Given the description of an element on the screen output the (x, y) to click on. 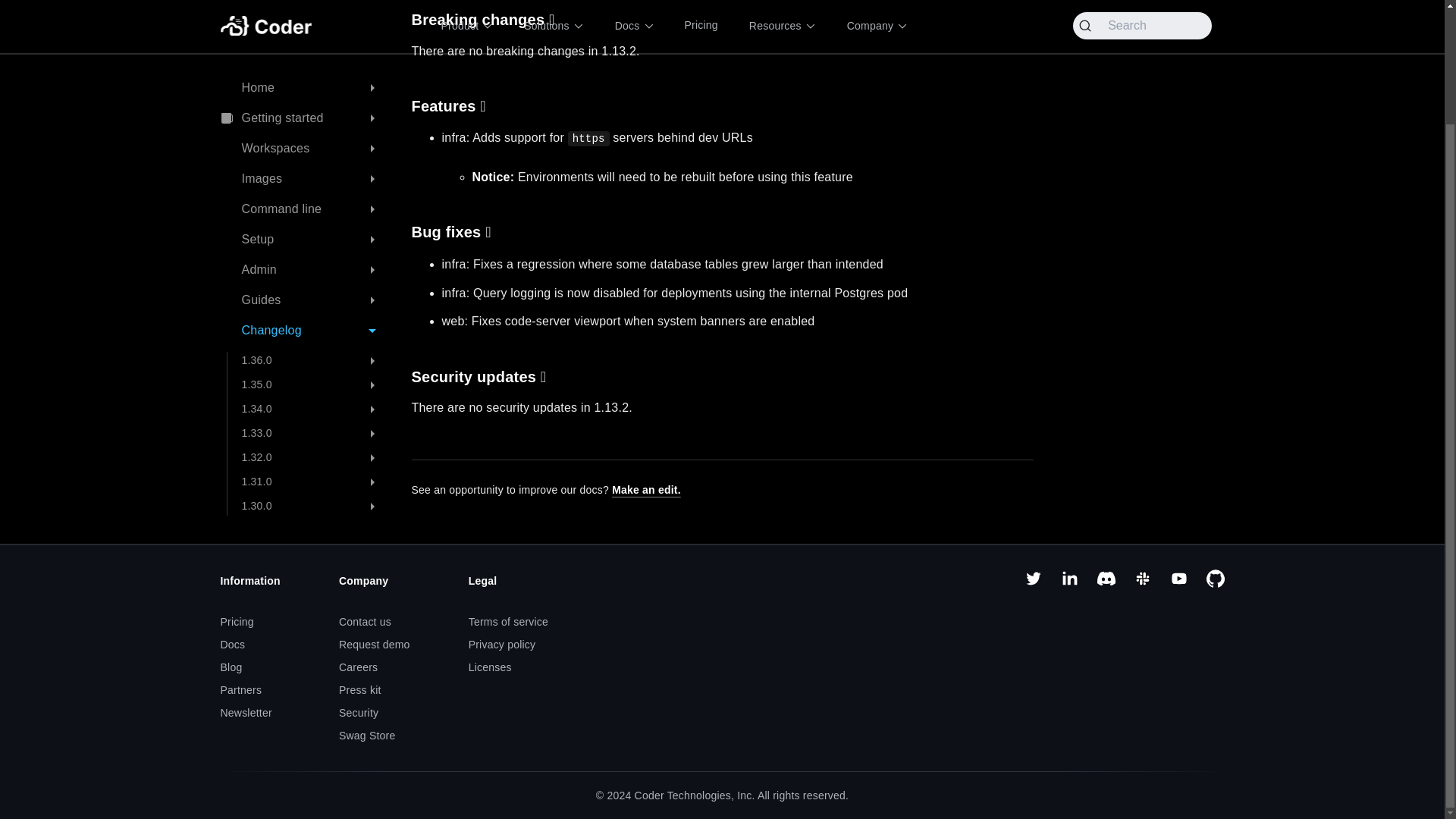
Slack (1141, 583)
Command line (303, 74)
1.34.0 (314, 274)
Guides (303, 165)
1.33.0 (314, 298)
1.32.0 (314, 322)
Images (303, 44)
1.35.0 (314, 249)
1.36.0 (314, 226)
Changelog (303, 195)
Discord (1105, 583)
Admin (303, 135)
Workspaces (303, 13)
Setup (303, 104)
